Given the description of an element on the screen output the (x, y) to click on. 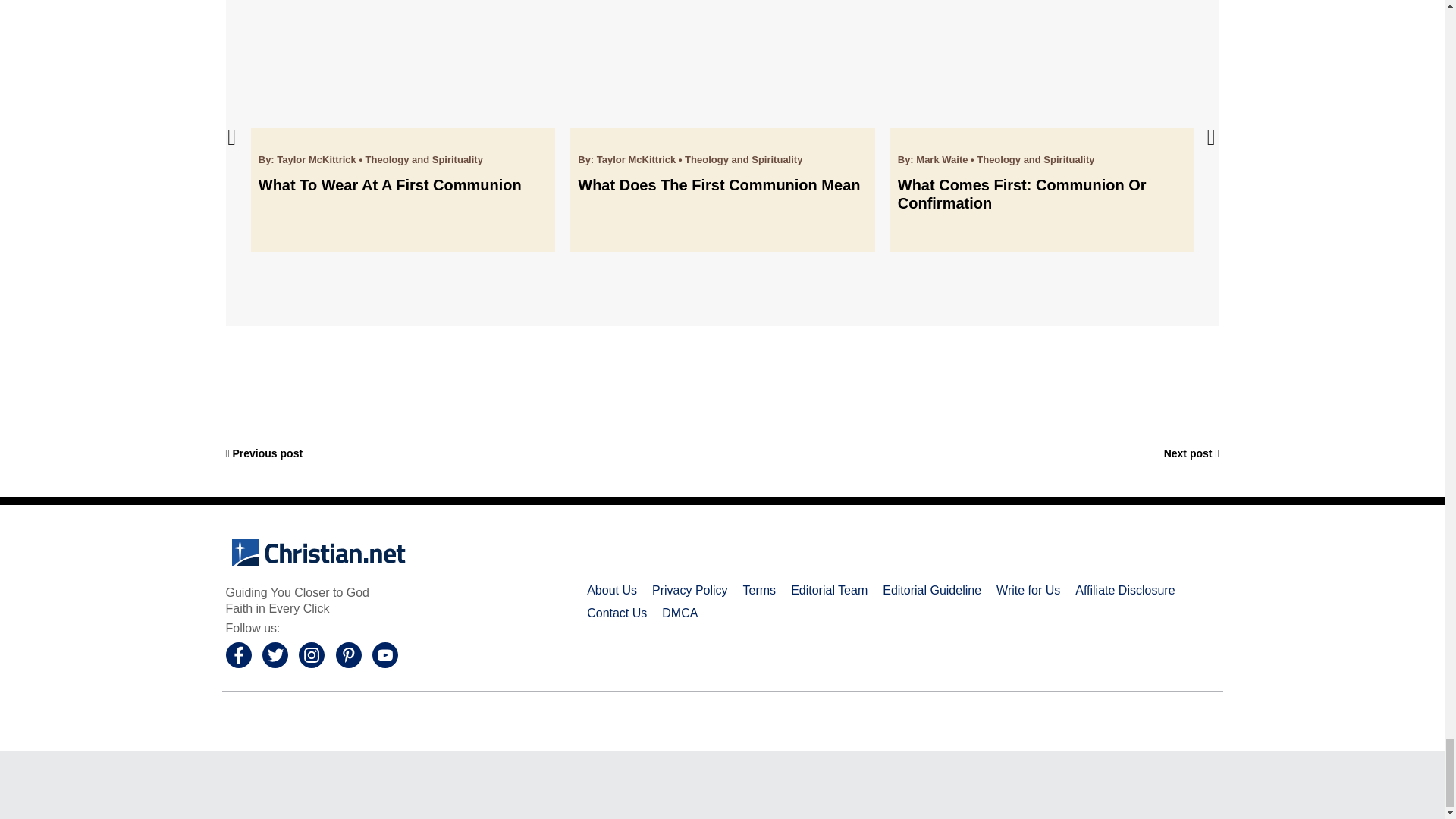
Christian (319, 553)
